Given the description of an element on the screen output the (x, y) to click on. 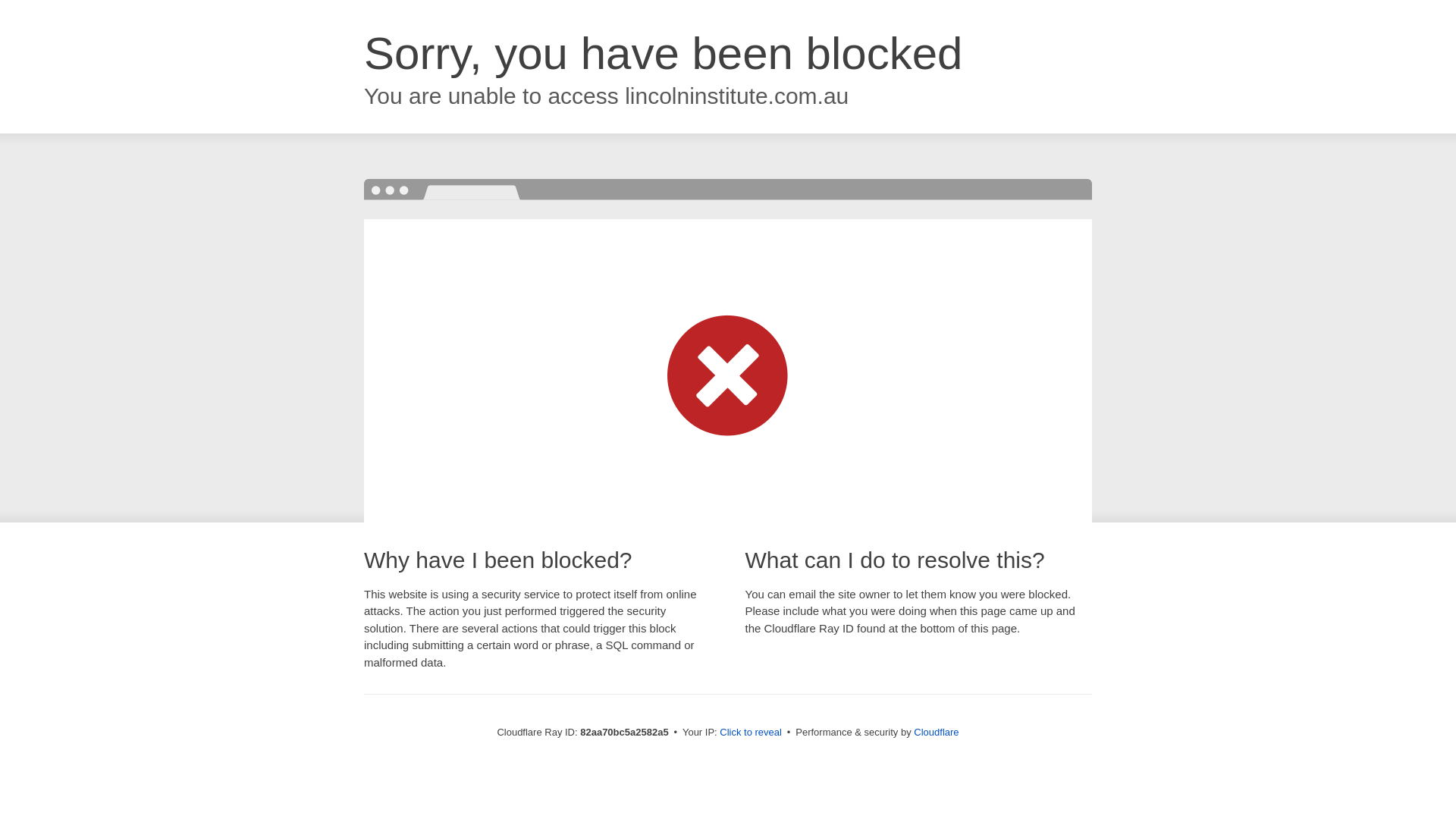
Click to reveal Element type: text (750, 732)
Cloudflare Element type: text (935, 731)
